Given the description of an element on the screen output the (x, y) to click on. 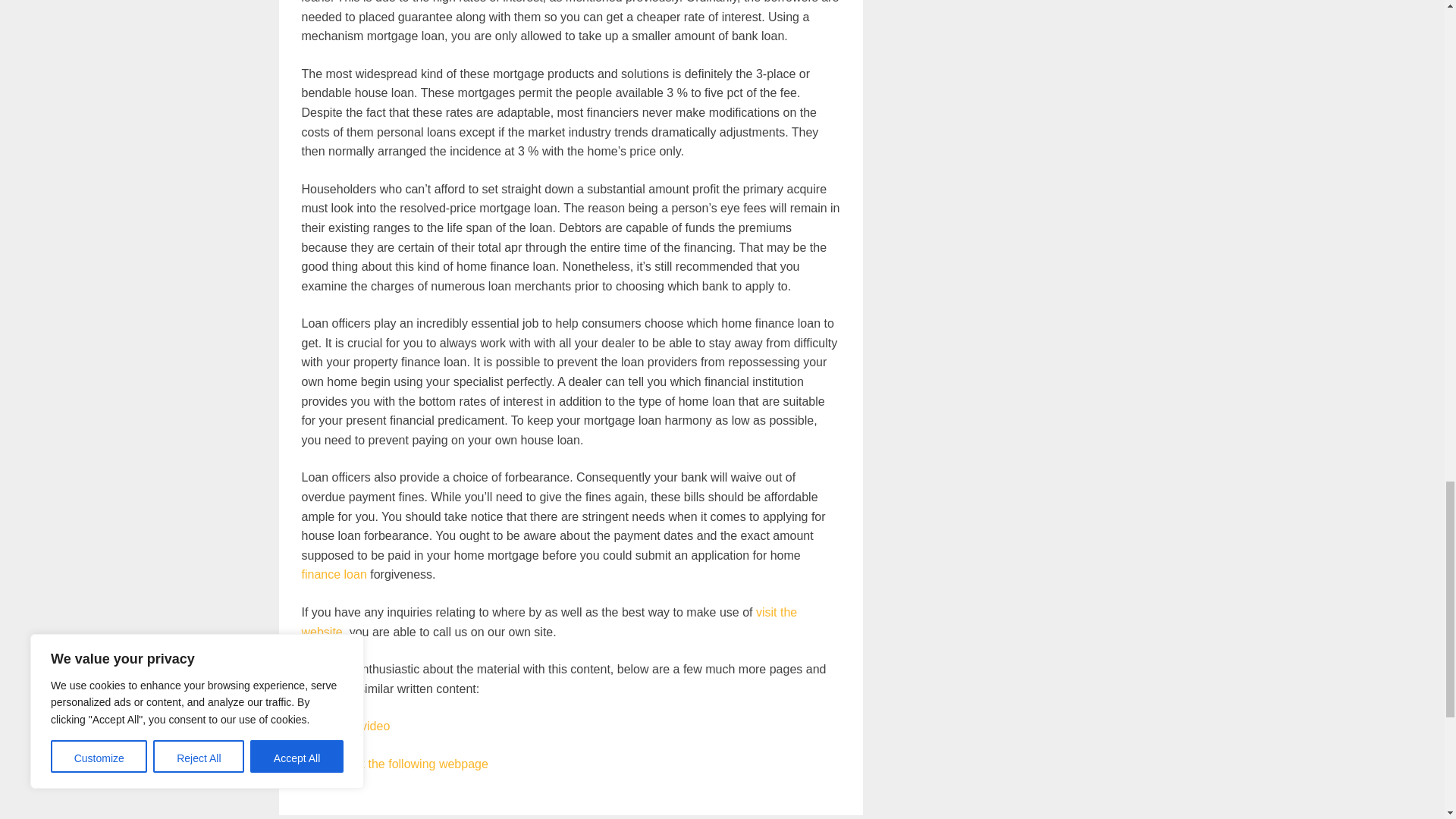
finance loan (333, 574)
Watch this video (345, 725)
mouse click the following webpage (394, 763)
visit the website (549, 622)
